Given the description of an element on the screen output the (x, y) to click on. 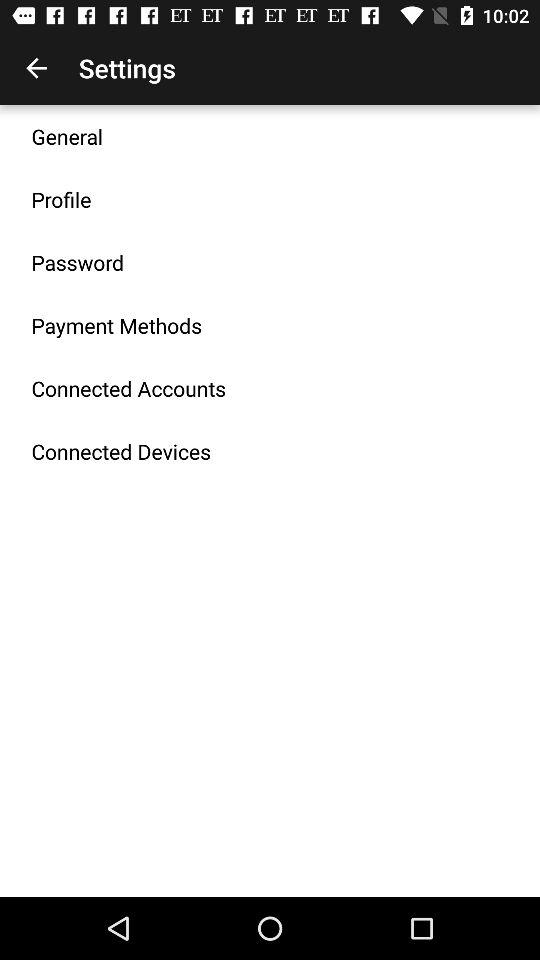
turn off the icon to the left of the settings item (36, 68)
